Given the description of an element on the screen output the (x, y) to click on. 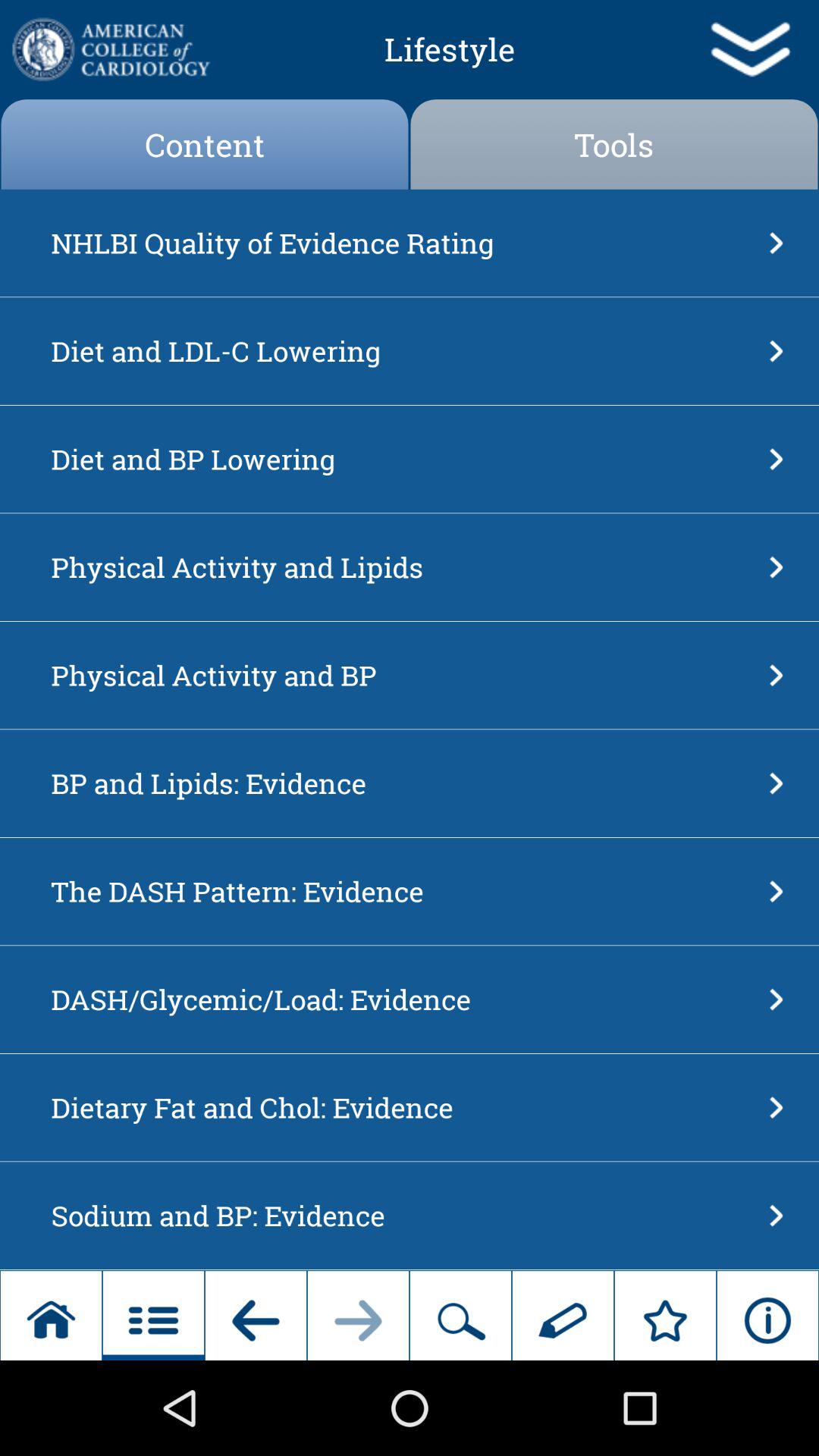
choose button above content item (109, 49)
